Given the description of an element on the screen output the (x, y) to click on. 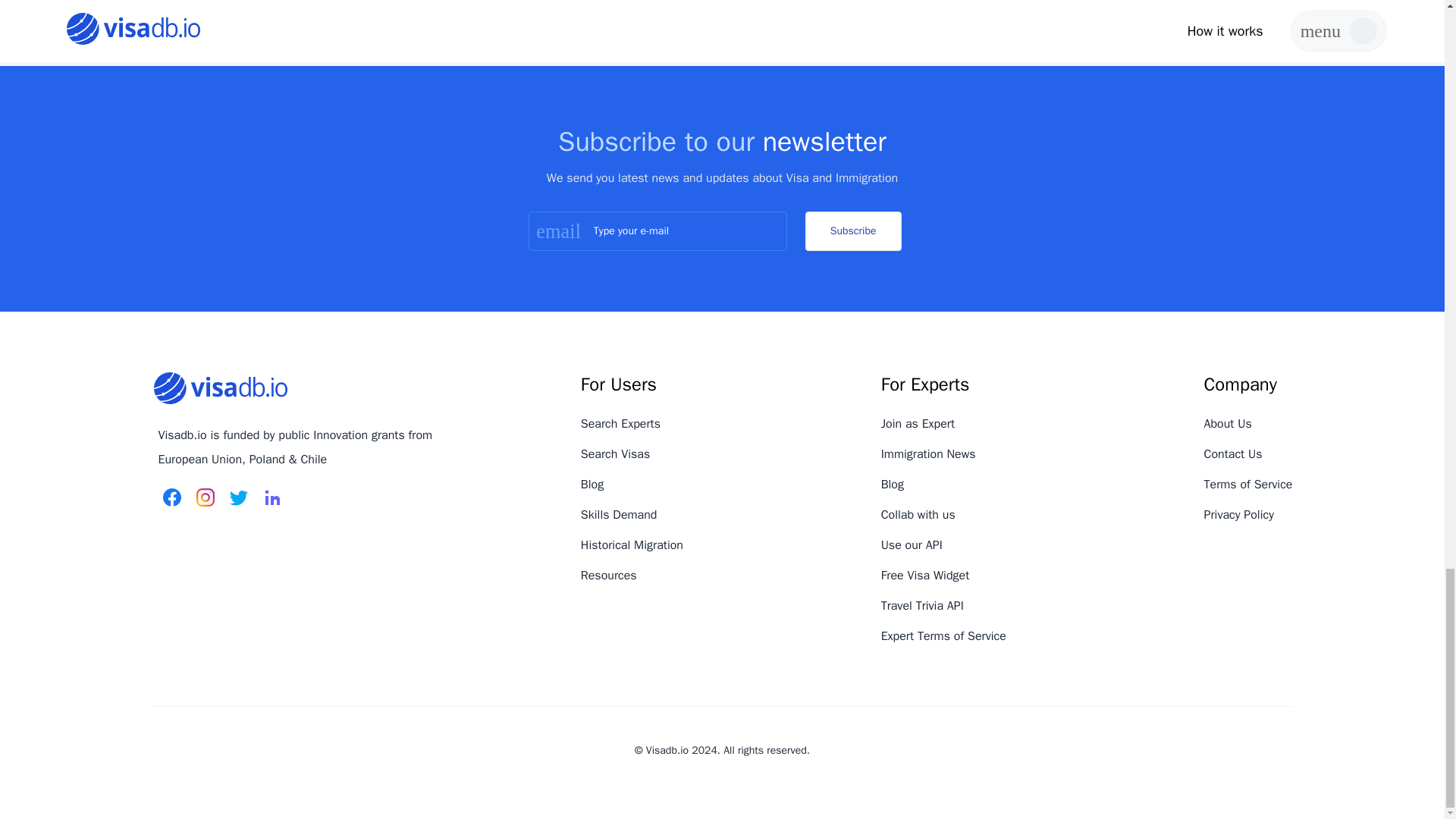
Search Visas (614, 453)
Resources (608, 575)
Free Visa Widget (924, 575)
Historical Migration (631, 544)
Collab with us (917, 514)
Subscribe (853, 230)
About Us (1228, 423)
Search Experts (620, 423)
Skills Demand (619, 514)
Blog (592, 484)
Immigration News (927, 453)
Terms of Service (1248, 484)
Visadb Logo (219, 388)
Expert Terms of Service (943, 635)
Travel Trivia API (921, 605)
